Given the description of an element on the screen output the (x, y) to click on. 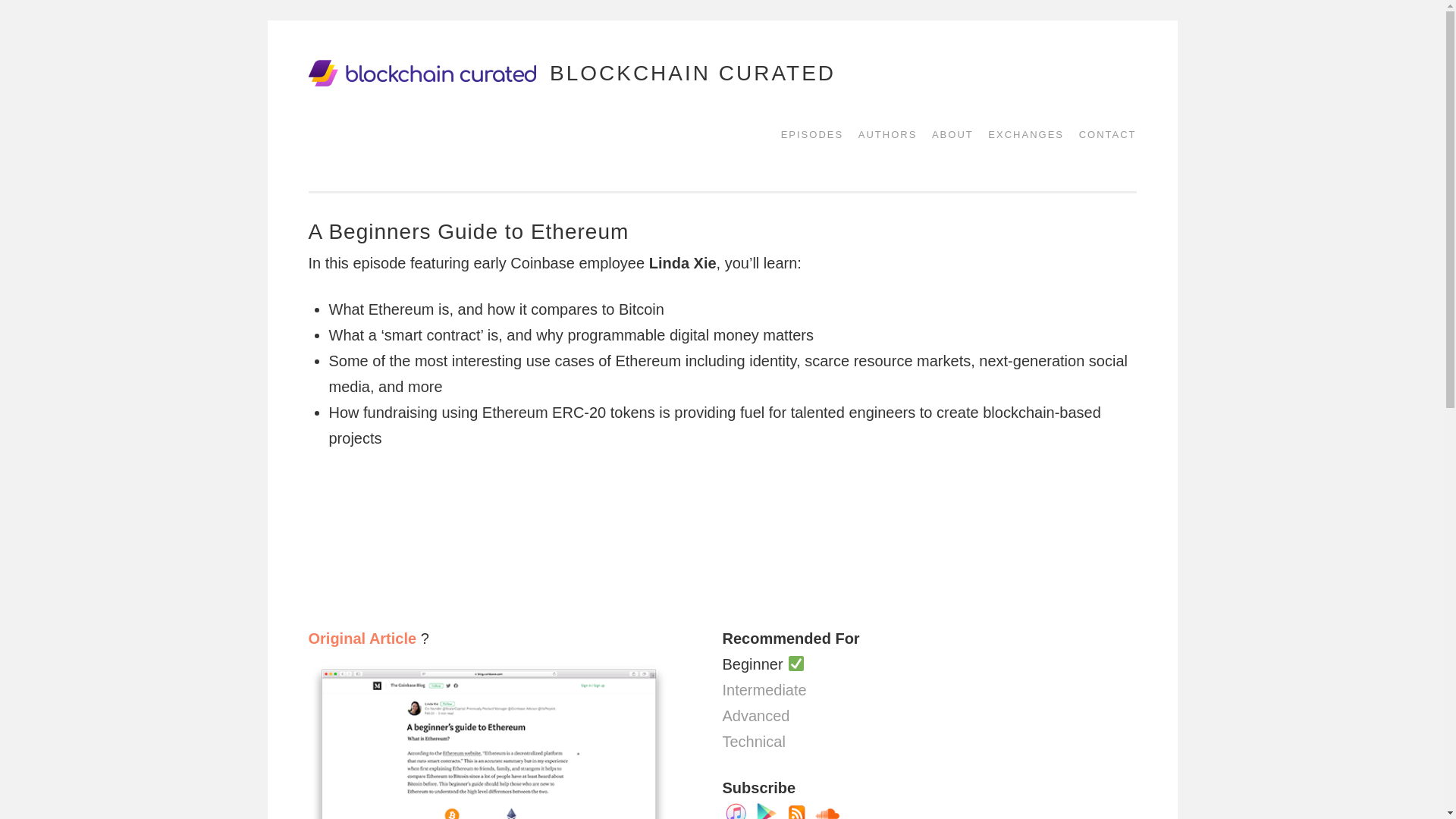
ABOUT (947, 134)
BLOCKCHAIN CURATED (692, 72)
AUTHORS (882, 134)
EPISODES (806, 134)
CONTACT (1102, 134)
Original Article  (363, 638)
EXCHANGES (1020, 134)
